Given the description of an element on the screen output the (x, y) to click on. 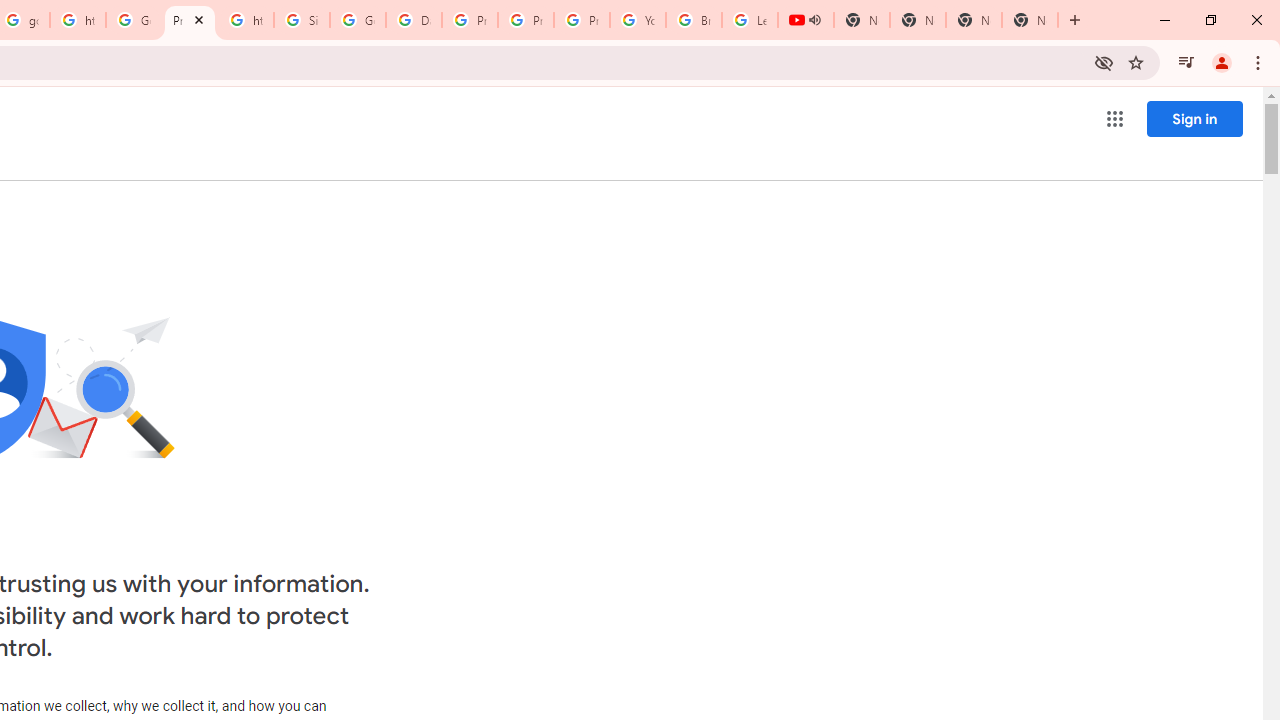
https://scholar.google.com/ (77, 20)
Privacy Help Center - Policies Help (469, 20)
Sign in - Google Accounts (301, 20)
Privacy Help Center - Policies Help (525, 20)
New Tab (1030, 20)
